Given the description of an element on the screen output the (x, y) to click on. 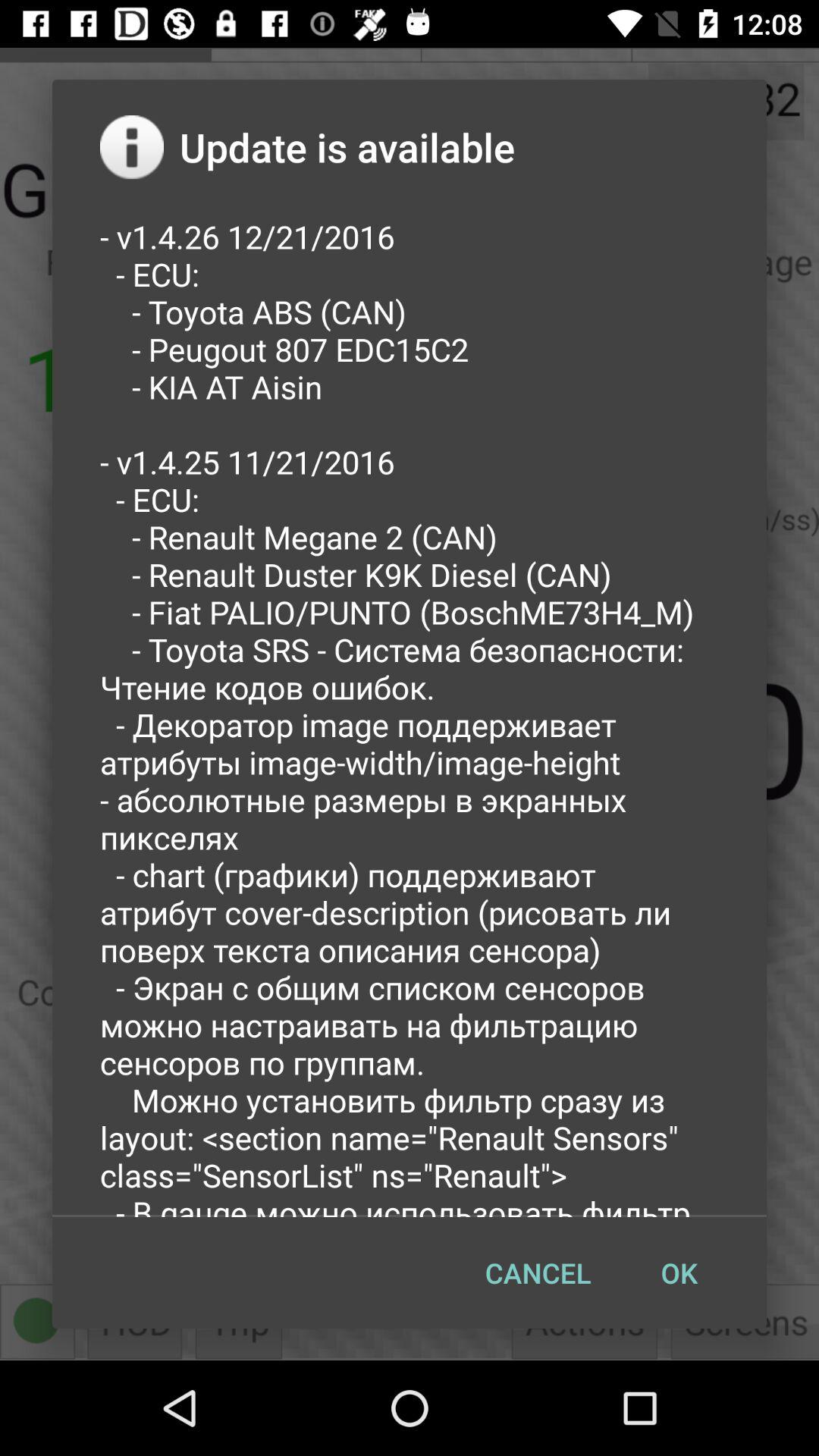
select the icon at the bottom (538, 1272)
